Given the description of an element on the screen output the (x, y) to click on. 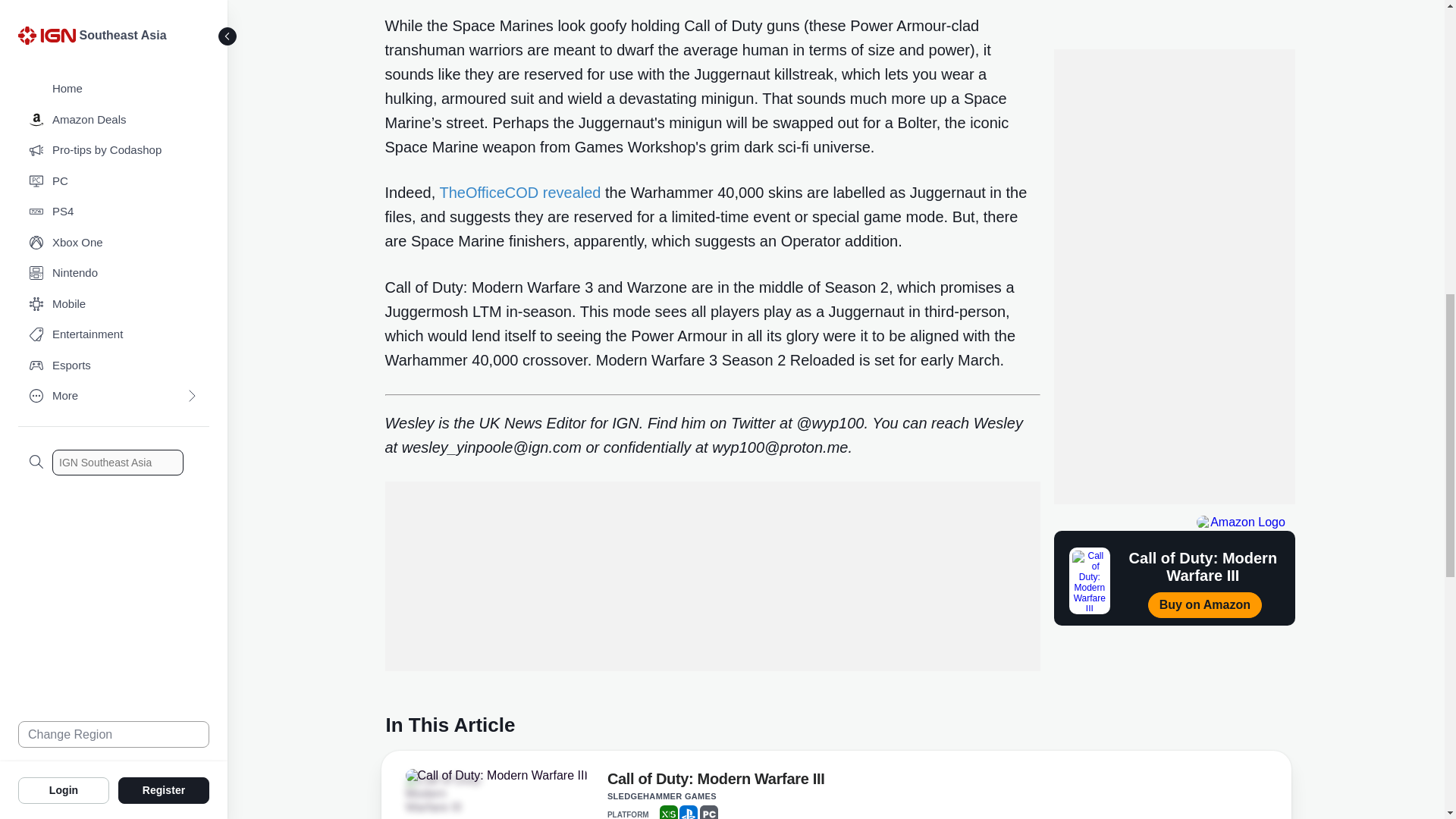
Call of Duty: Modern Warfare III (716, 781)
Call of Duty: Modern Warfare III (448, 793)
Call of Duty: Modern Warfare III (495, 775)
PC (708, 812)
XBOXSERIES (668, 812)
PS5 (688, 812)
